Given the description of an element on the screen output the (x, y) to click on. 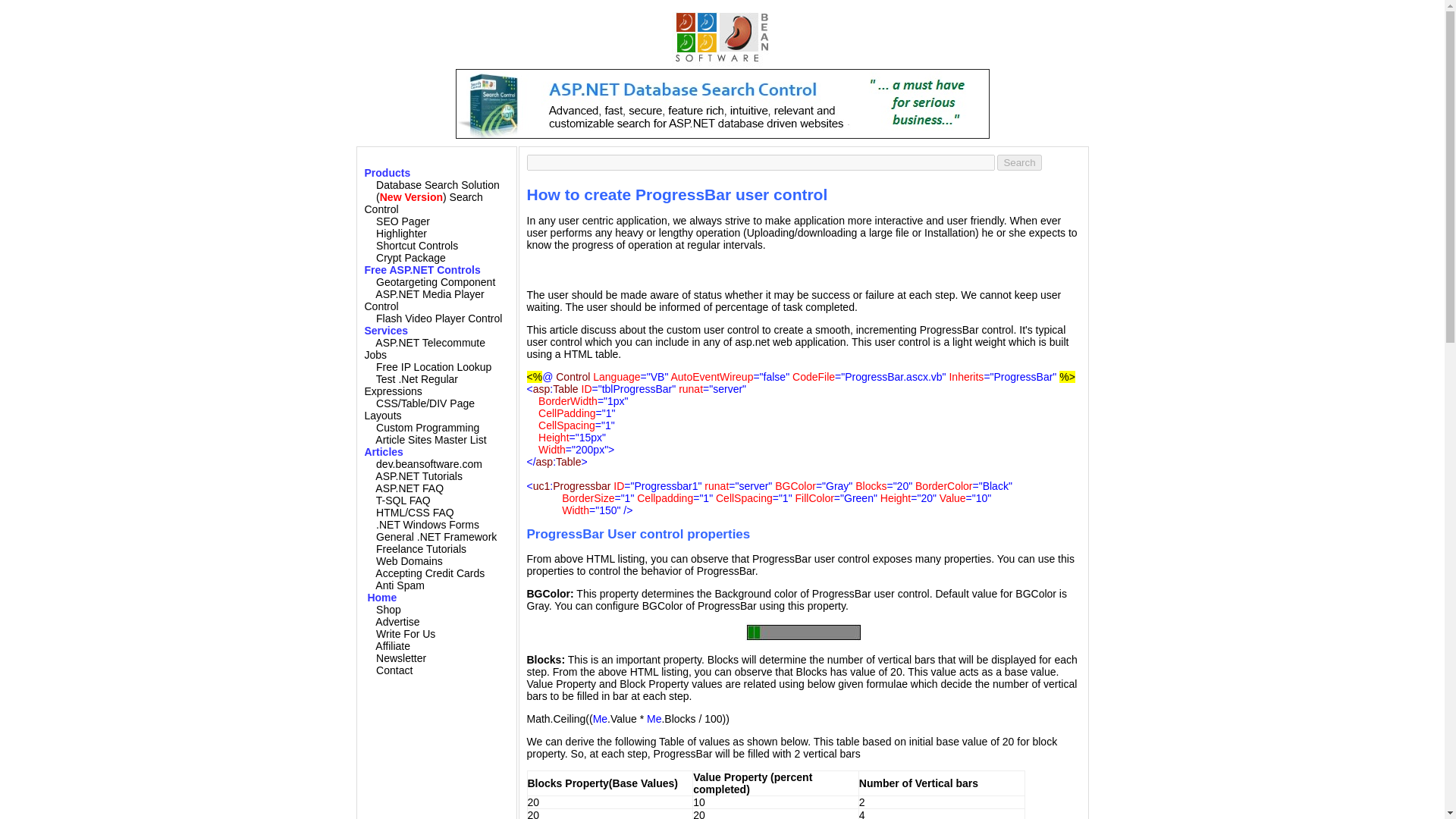
Article Sites Master List (430, 439)
Flash Video Player Control (438, 318)
ASP.NET Media Player Control (423, 300)
Web Domains (408, 561)
Highlighter (400, 233)
Articles (383, 451)
Database Search Solution (437, 184)
Home (381, 597)
ASP.NET FAQ (409, 488)
Test .Net Regular Expressions (410, 385)
Search (1019, 162)
Free IP Location Lookup (433, 367)
Services (385, 330)
Shortcut Controls (416, 245)
ASP.NET Telecommute Jobs (424, 348)
